Given the description of an element on the screen output the (x, y) to click on. 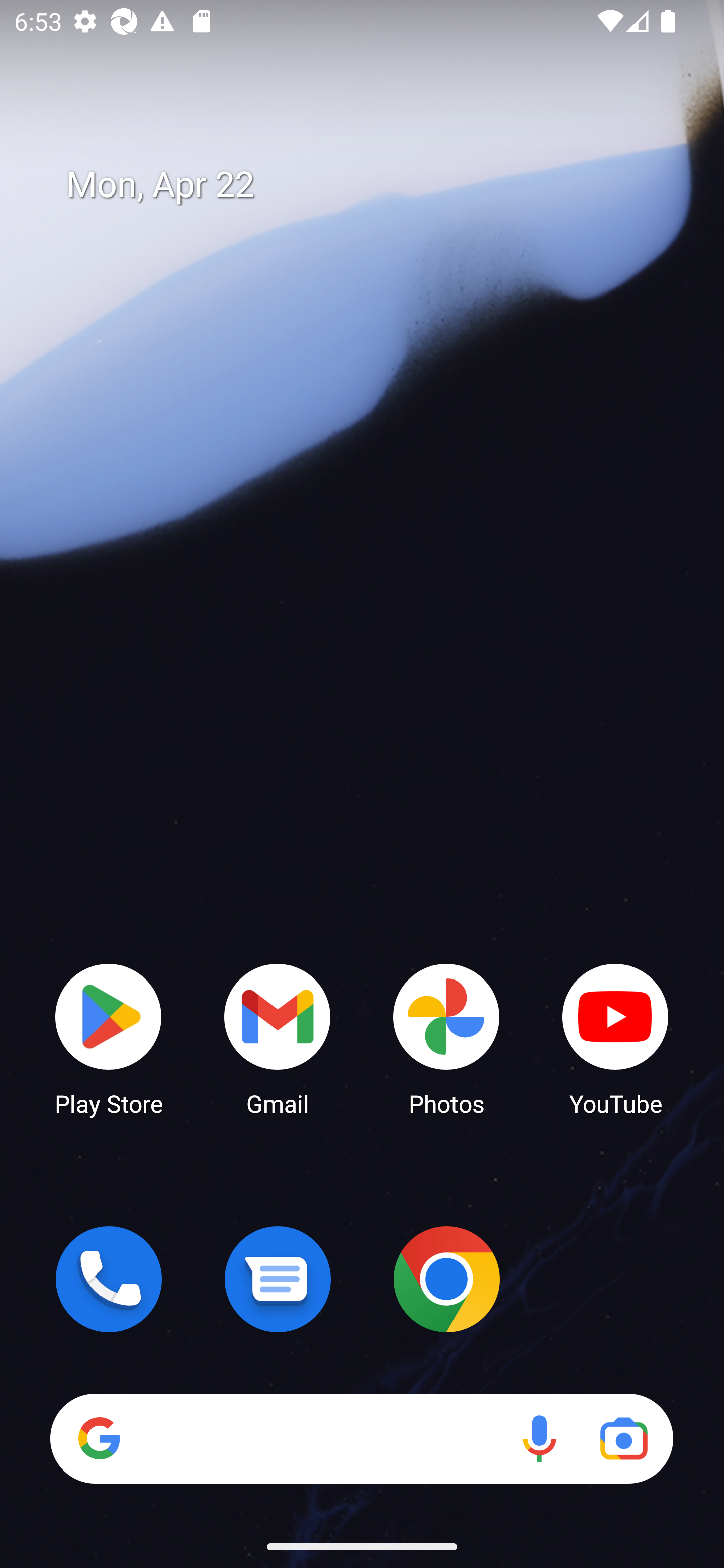
Mon, Apr 22 (375, 184)
Play Store (108, 1038)
Gmail (277, 1038)
Photos (445, 1038)
YouTube (615, 1038)
Phone (108, 1279)
Messages (277, 1279)
Chrome (446, 1279)
Search Voice search Google Lens (361, 1438)
Voice search (539, 1438)
Google Lens (623, 1438)
